Given the description of an element on the screen output the (x, y) to click on. 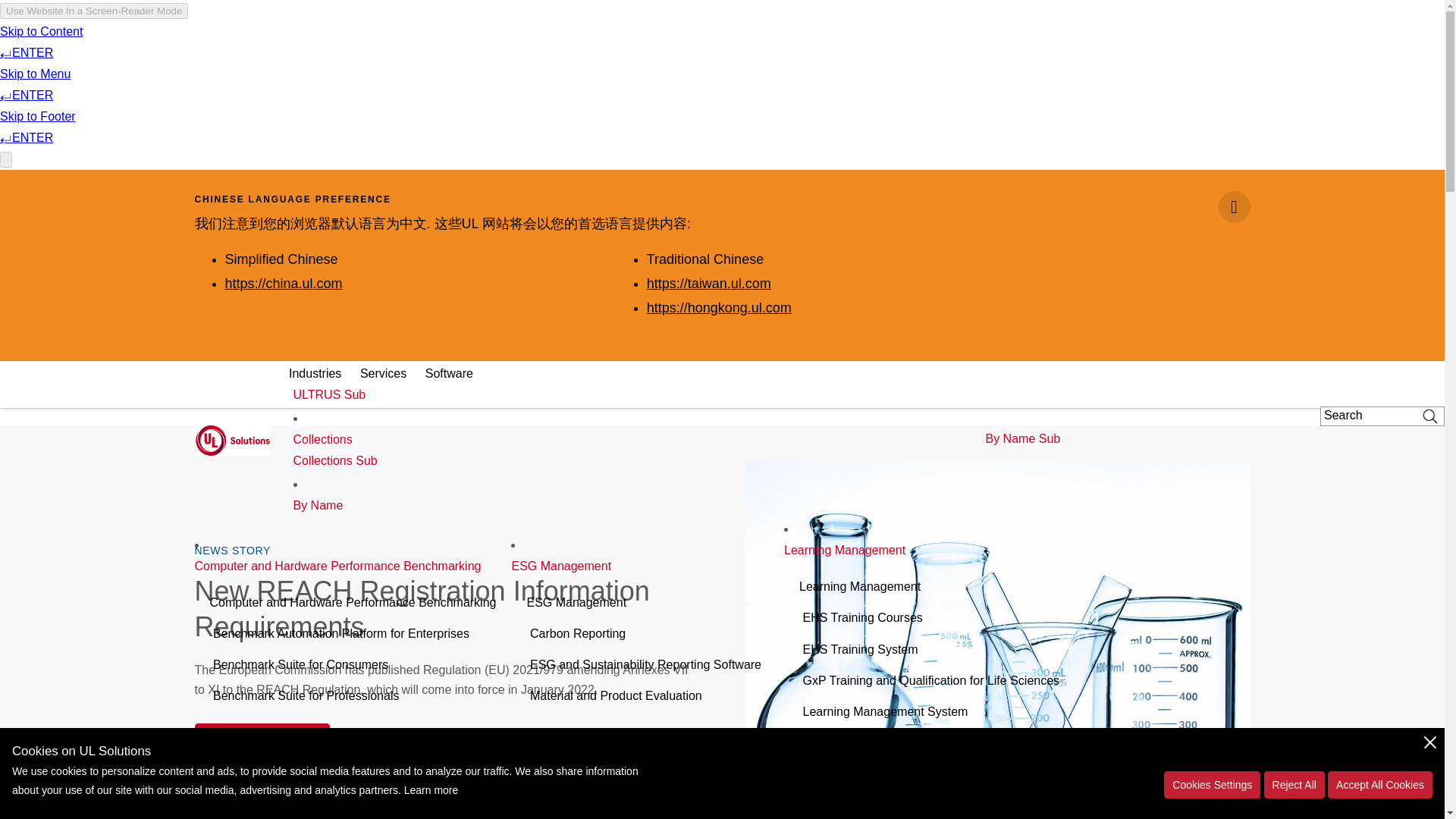
Industries (314, 373)
UL logo (231, 438)
Close (1233, 206)
Close (1233, 206)
Industries (314, 373)
